Given the description of an element on the screen output the (x, y) to click on. 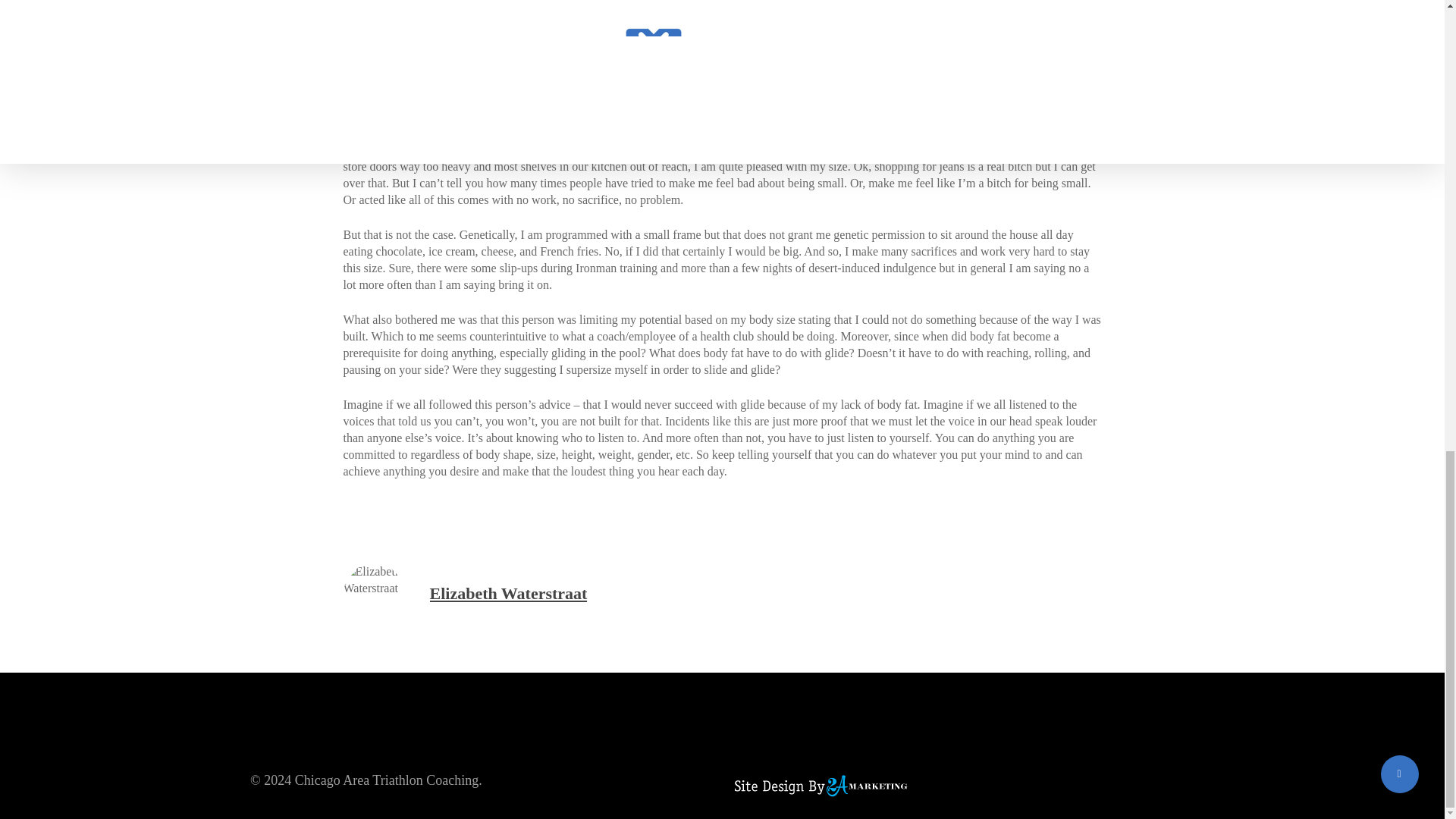
Elizabeth Waterstraat (507, 592)
